Given the description of an element on the screen output the (x, y) to click on. 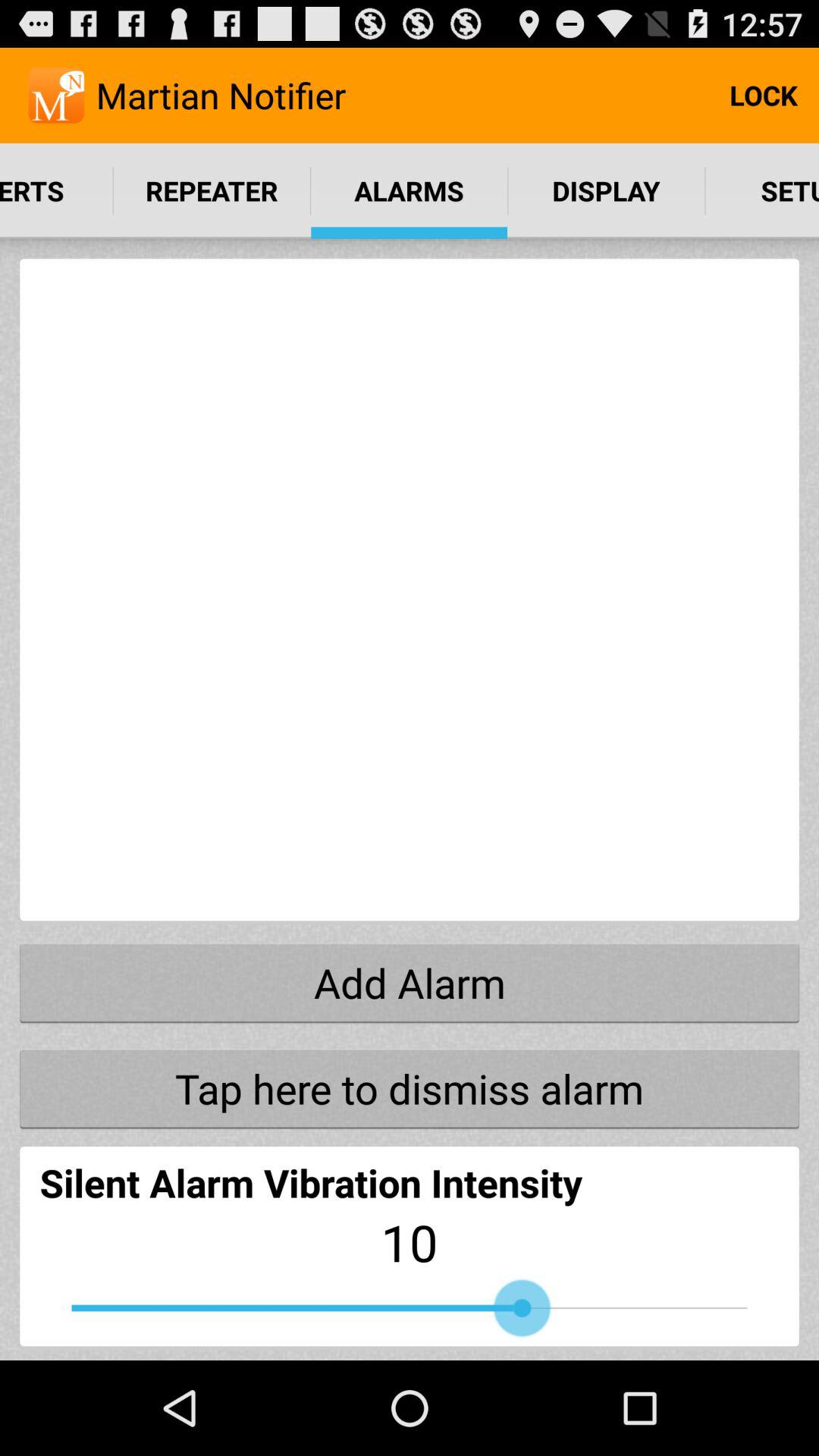
swipe until the lock item (763, 95)
